Given the description of an element on the screen output the (x, y) to click on. 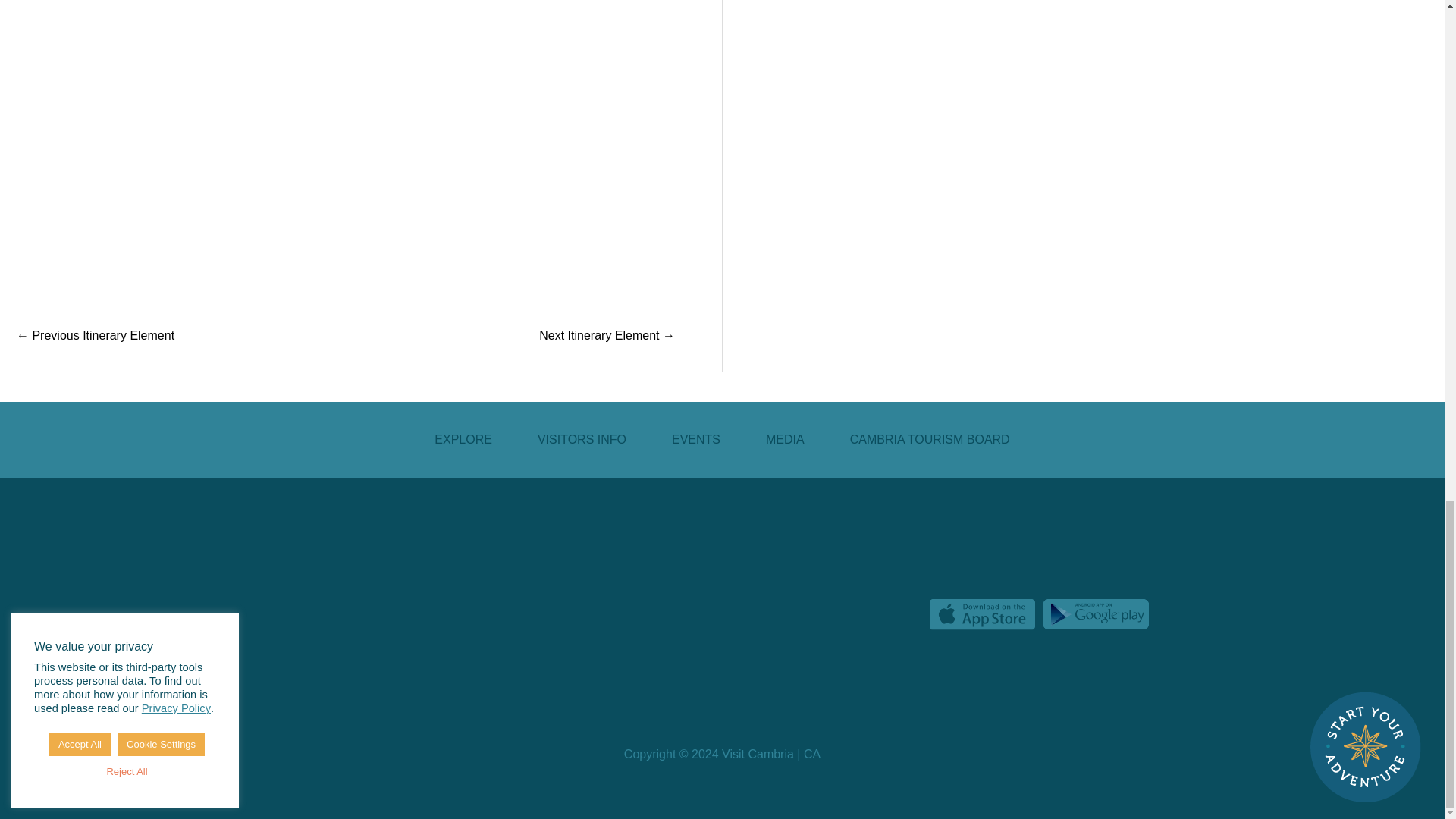
Northern Elephant Seal Rookery (606, 336)
Stepladder Creamery (95, 336)
